Given the description of an element on the screen output the (x, y) to click on. 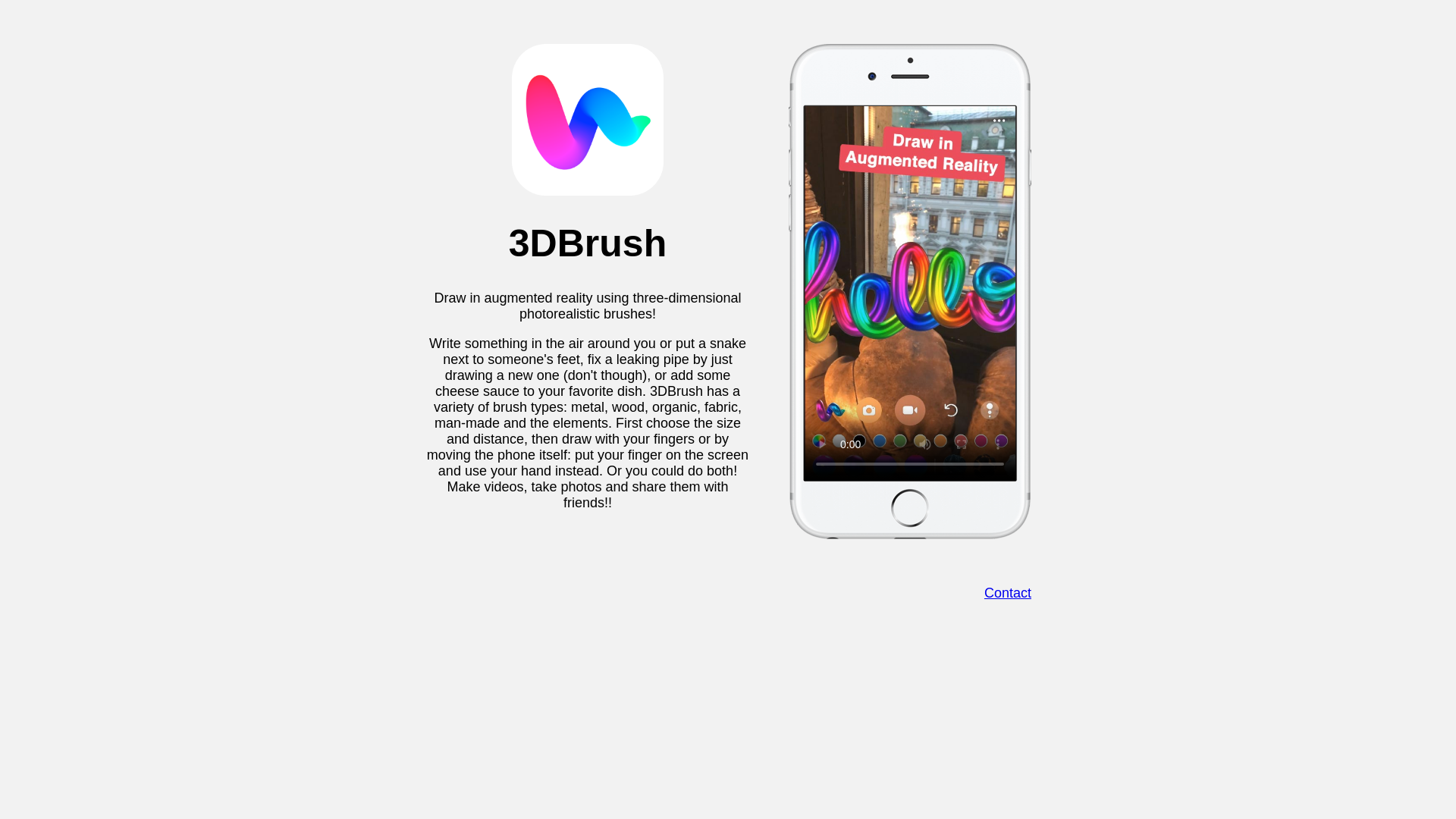
Contact Element type: text (1007, 593)
